Given the description of an element on the screen output the (x, y) to click on. 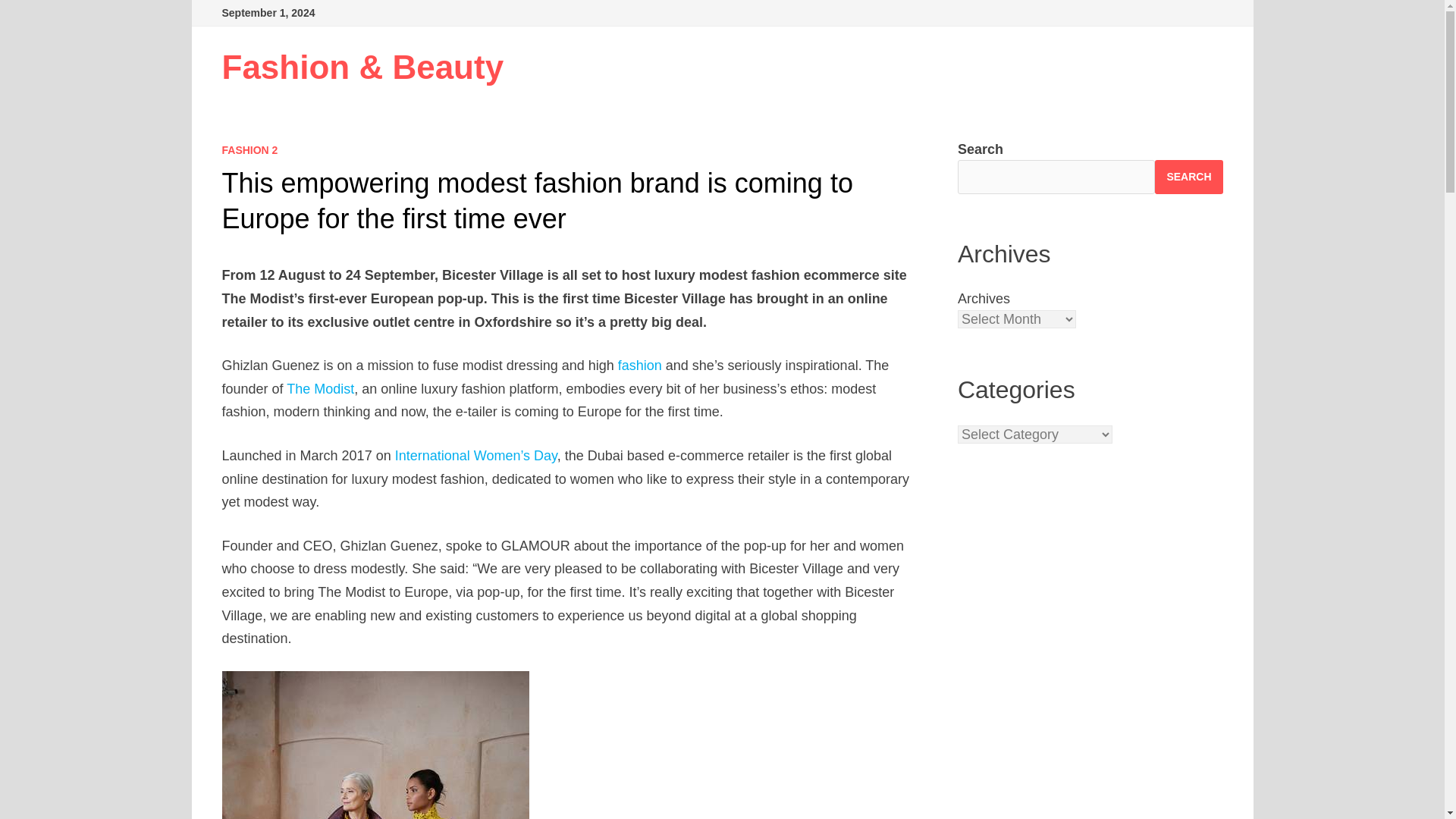
fashion (639, 365)
The Modist (319, 388)
FASHION 2 (249, 150)
SEARCH (1188, 176)
